Given the description of an element on the screen output the (x, y) to click on. 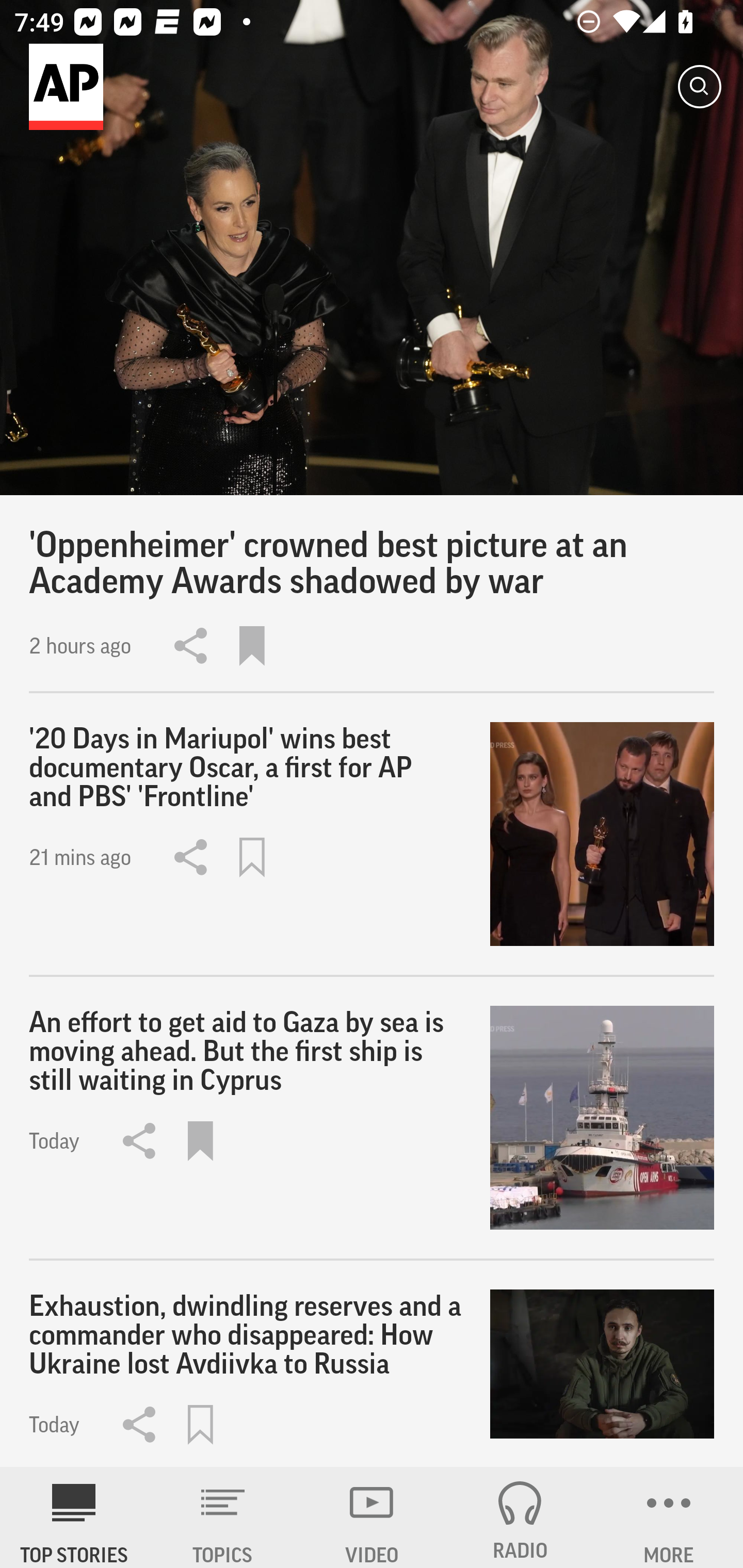
AP News TOP STORIES (74, 1517)
TOPICS (222, 1517)
VIDEO (371, 1517)
RADIO (519, 1517)
MORE (668, 1517)
